Given the description of an element on the screen output the (x, y) to click on. 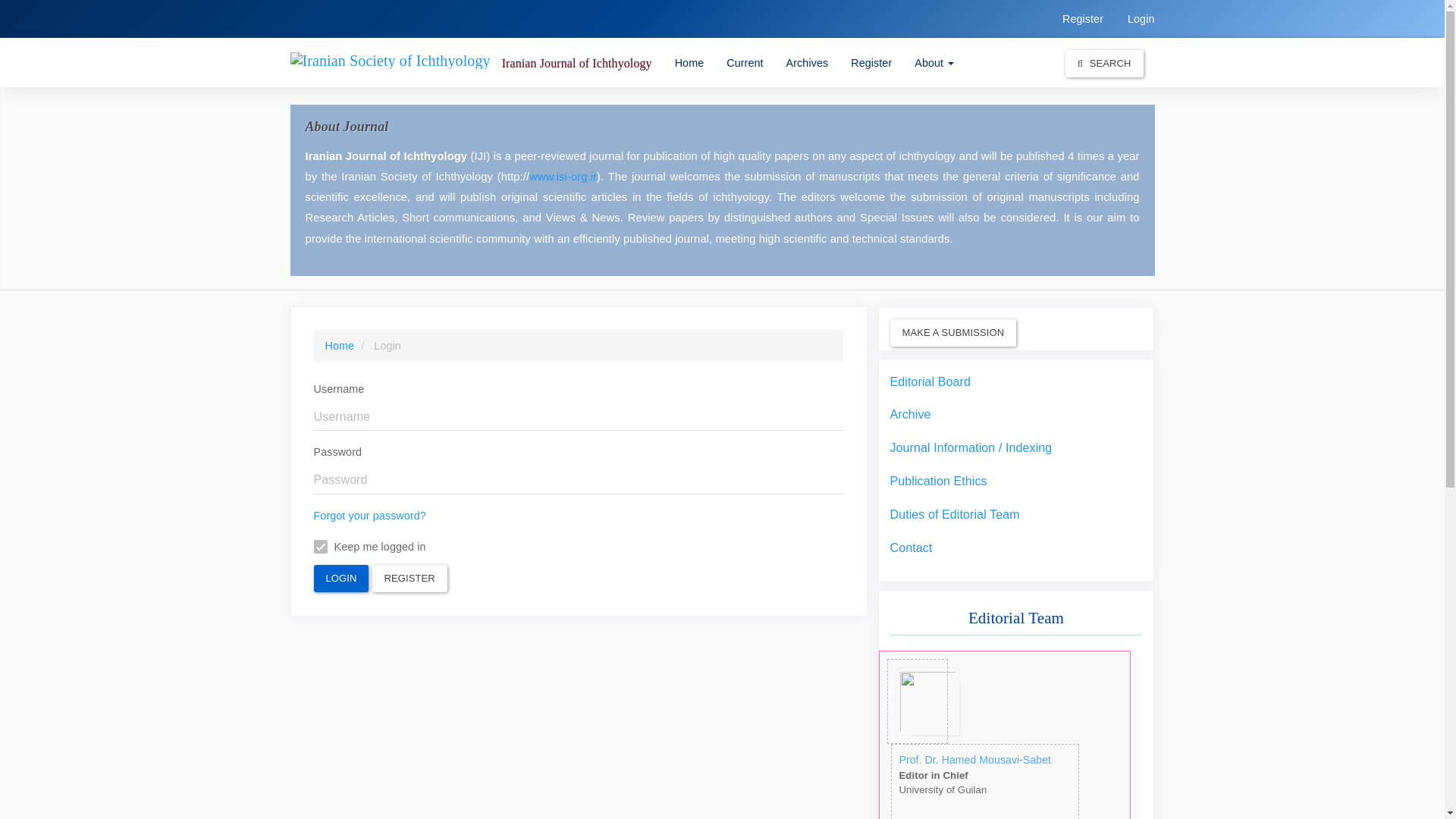
Current (744, 62)
Contact (911, 548)
Duties of Editorial Team (954, 513)
Register (871, 62)
Home (689, 62)
Archives (807, 62)
About (933, 62)
SEARCH (1103, 62)
SEARCH (1103, 62)
Register (1083, 18)
Publication Ethics (938, 481)
www.isi-org.ir (562, 176)
LOGIN (341, 578)
MAKE A SUBMISSION (952, 332)
Archive (910, 414)
